Given the description of an element on the screen output the (x, y) to click on. 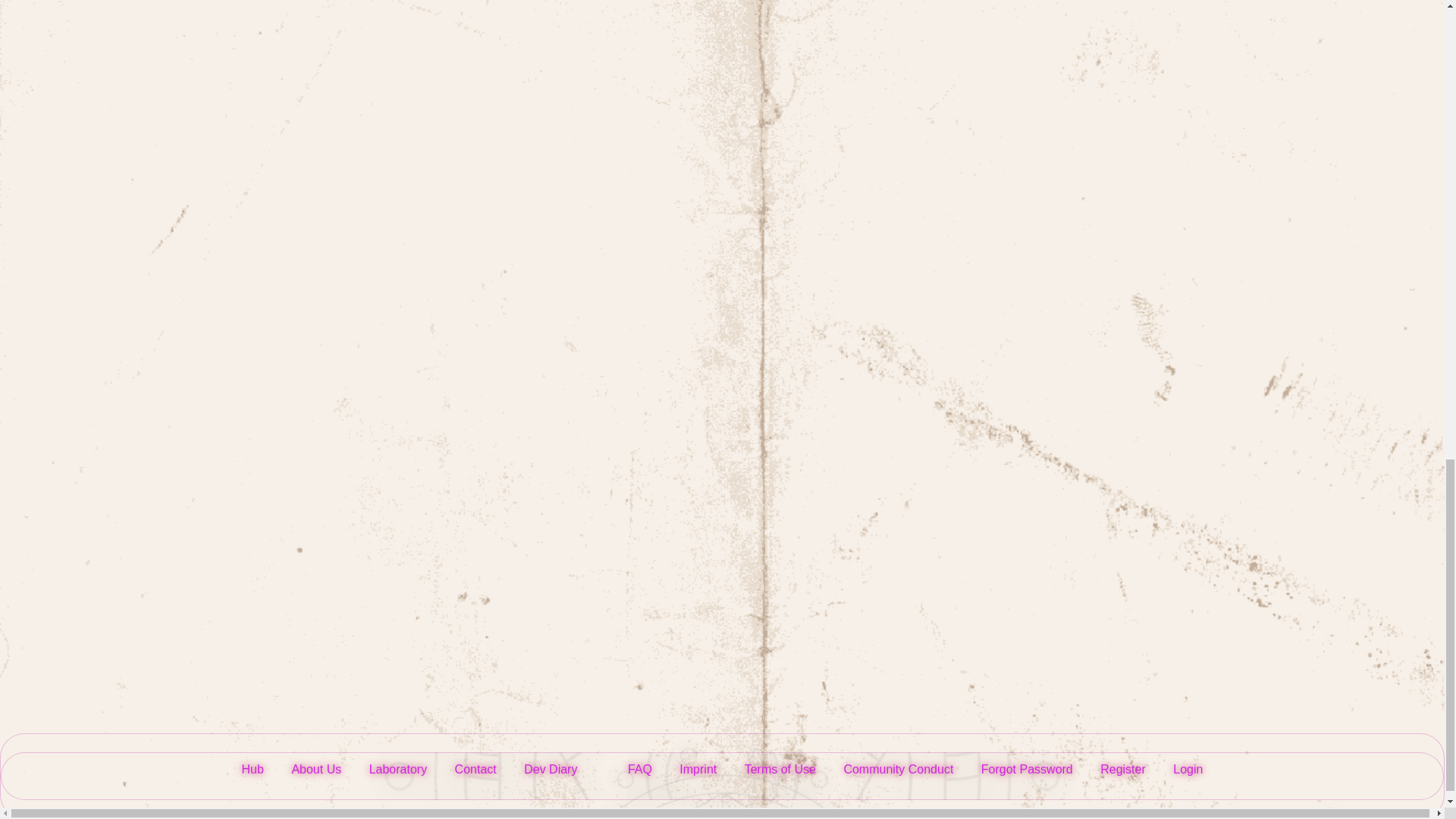
Imprint (697, 768)
FAQ (628, 768)
Hub (252, 768)
Login (1187, 768)
Terms of Use (779, 768)
Contact (475, 768)
Forgot Password (1027, 768)
Community Conduct (898, 768)
Laboratory (398, 768)
About Us (315, 768)
